Given the description of an element on the screen output the (x, y) to click on. 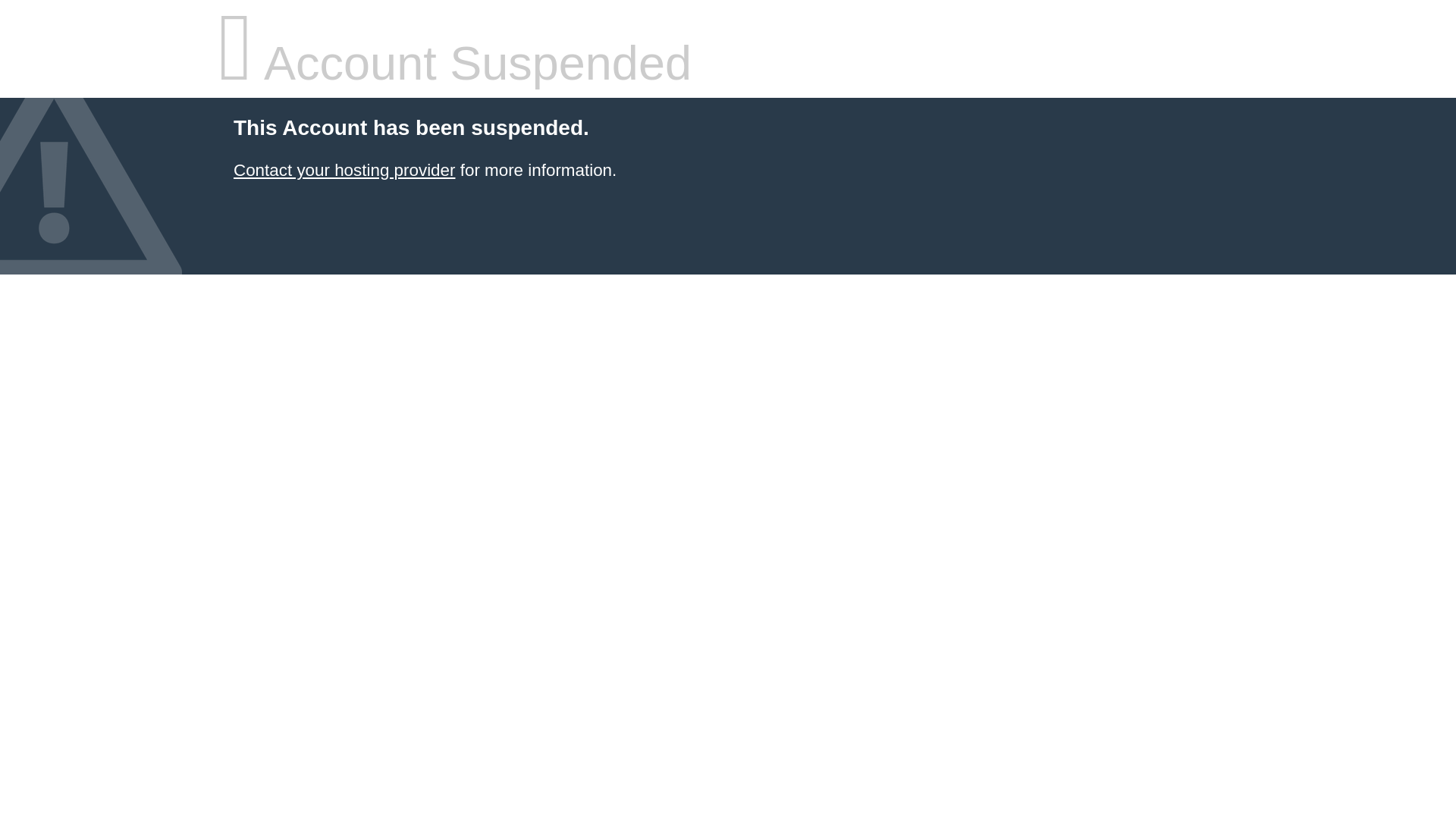
Contact your hosting provider (343, 169)
